Given the description of an element on the screen output the (x, y) to click on. 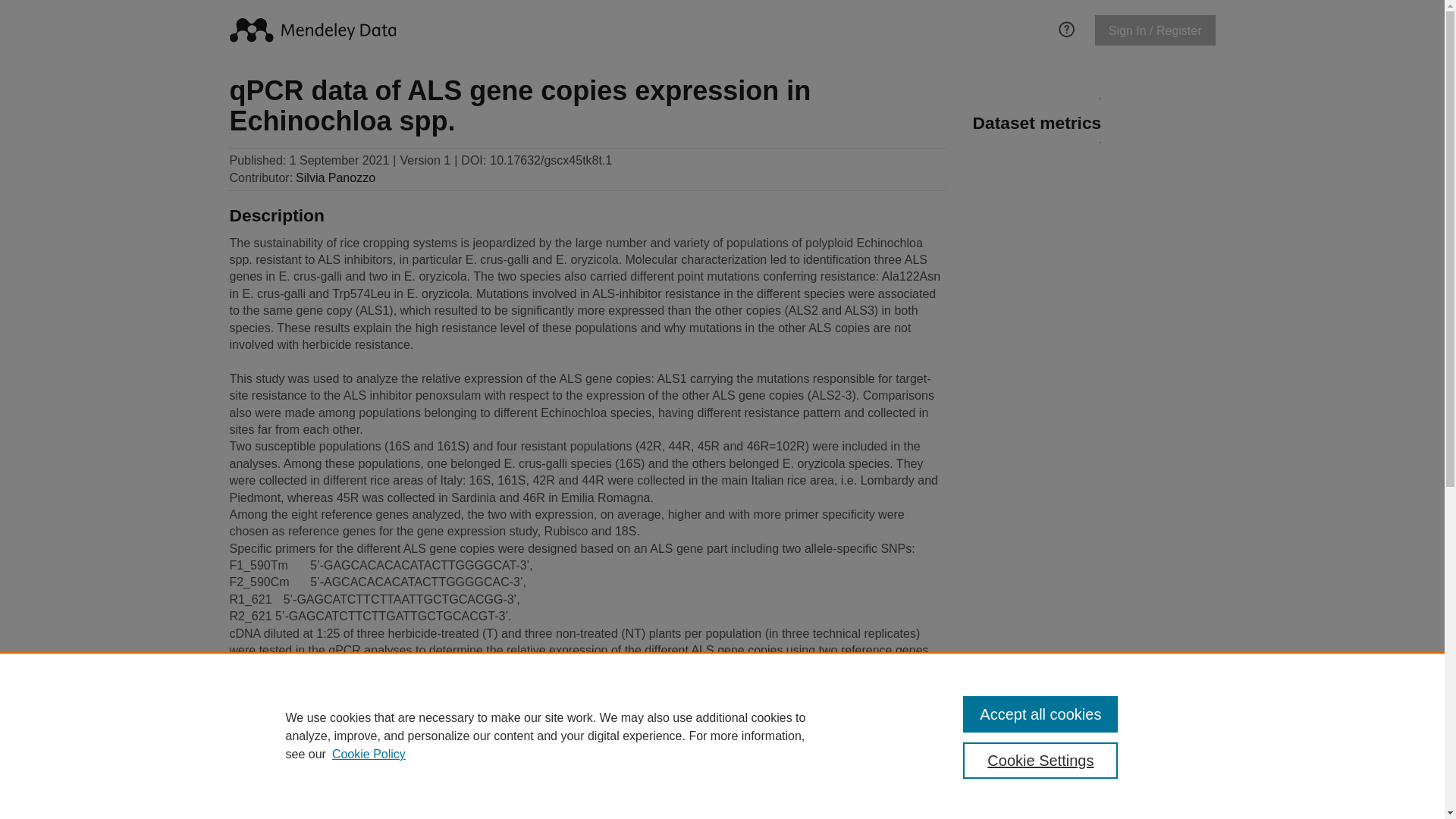
Cookie Settings (1040, 760)
FAQ (1066, 27)
Cookie Policy (368, 753)
Accept all cookies (1040, 714)
Download All (273, 737)
